Given the description of an element on the screen output the (x, y) to click on. 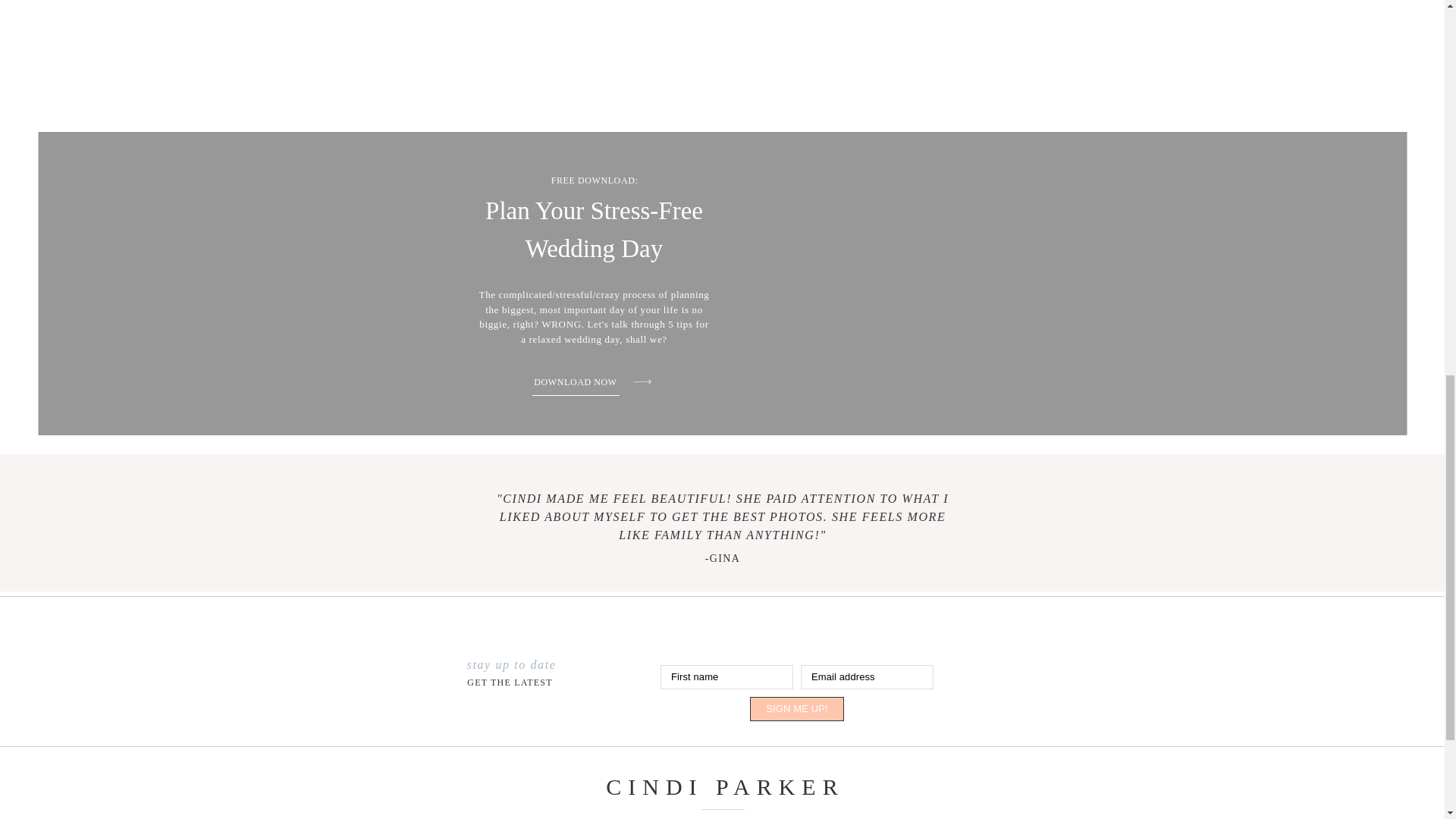
SIGN ME UP! (796, 708)
DOWNLOAD NOW (575, 381)
FREE DOWNLOAD: (594, 179)
